Given the description of an element on the screen output the (x, y) to click on. 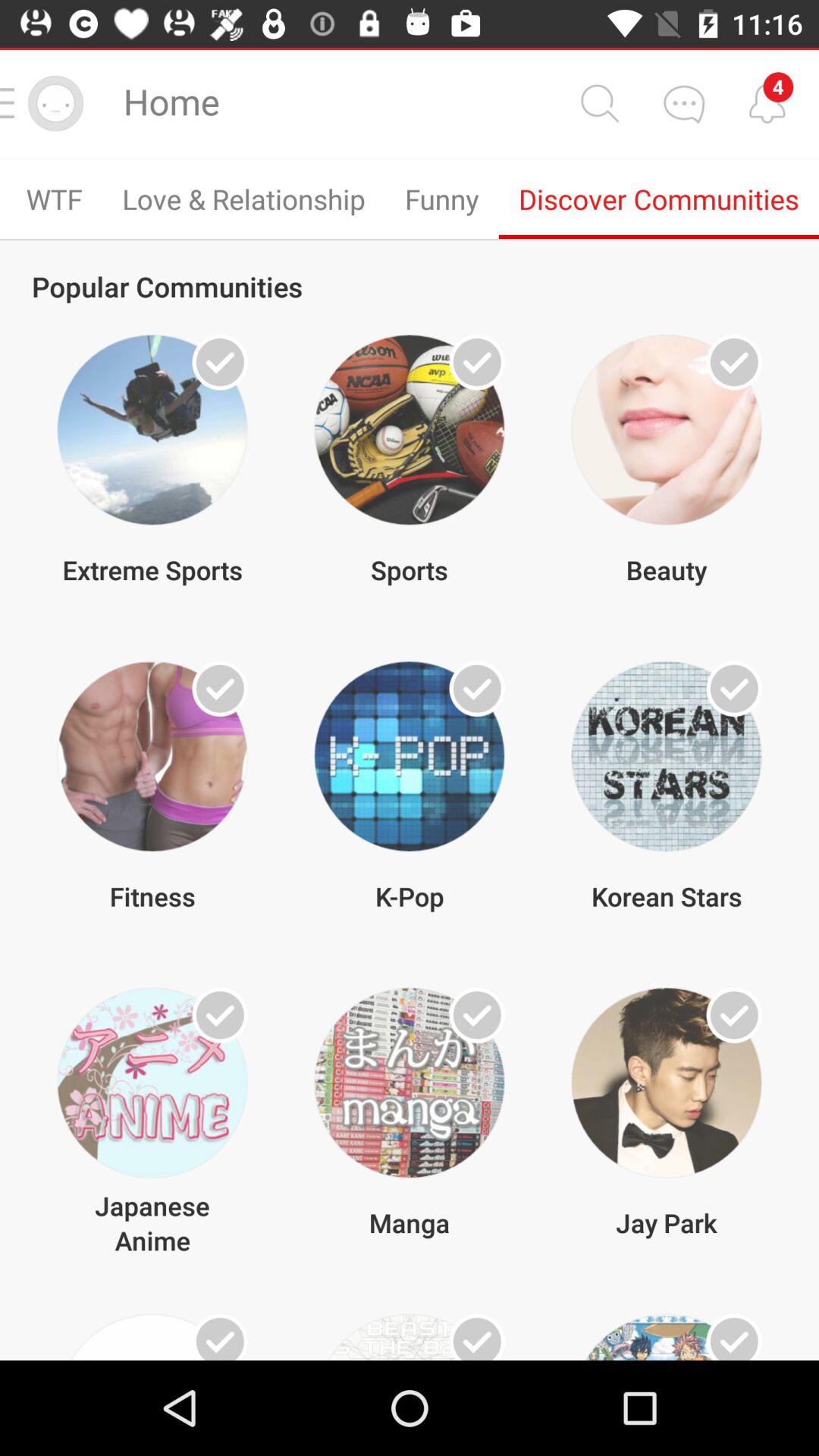
favorite (734, 362)
